Given the description of an element on the screen output the (x, y) to click on. 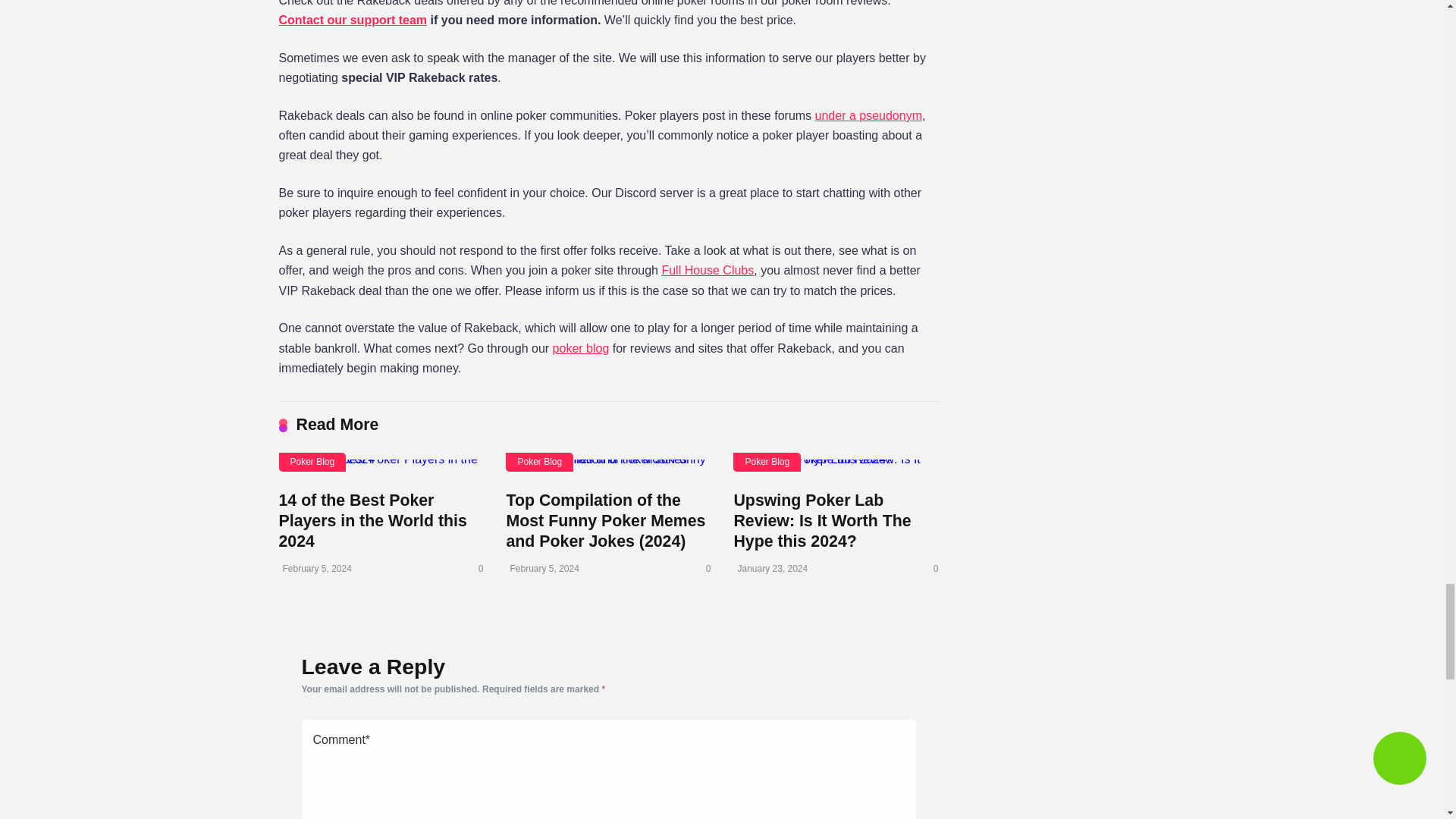
Upswing Poker Lab Review: Is It Worth The Hype this 2024? (822, 520)
under a pseudonym (868, 115)
14 of the Best Poker Players in the World this 2024 (373, 520)
Upswing Poker Lab Review: Is It Worth The Hype this 2024? (835, 465)
poker blog (581, 348)
Poker Blog (312, 461)
Full House Clubs (707, 269)
Poker Blog (539, 461)
14 of the Best Poker Players in the World this 2024 (381, 465)
14 of the Best Poker Players in the World this 2024 (373, 520)
Contact our support team (353, 19)
